Given the description of an element on the screen output the (x, y) to click on. 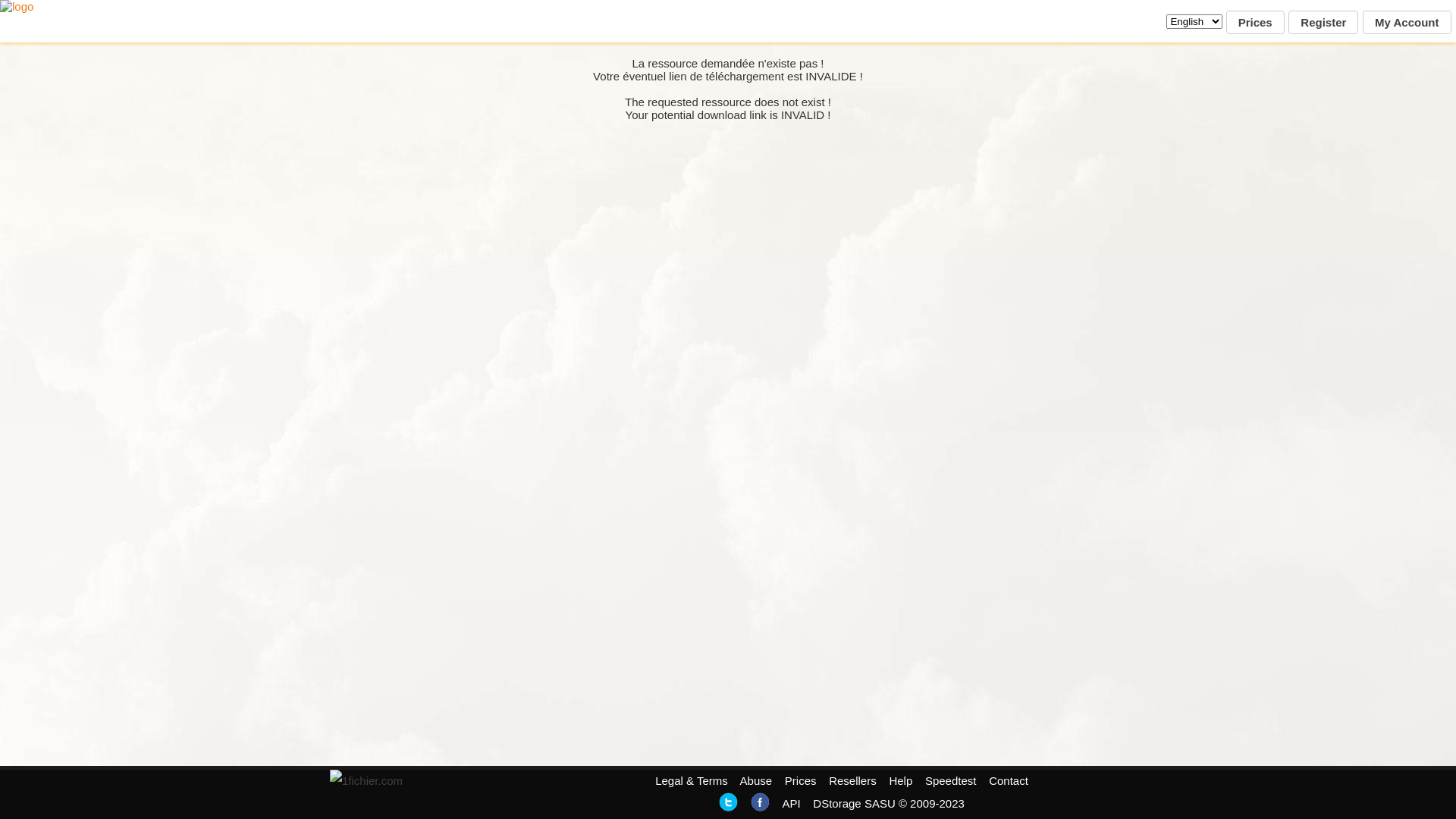
API Element type: text (790, 803)
Legal & Terms Element type: text (691, 780)
Abuse Element type: text (756, 780)
Prices Element type: text (800, 780)
Prices Element type: text (1255, 22)
Resellers Element type: text (852, 780)
Help Element type: text (900, 780)
My Account Element type: text (1406, 22)
Register Element type: text (1323, 22)
Speedtest Element type: text (950, 780)
Contact Element type: text (1008, 780)
